Given the description of an element on the screen output the (x, y) to click on. 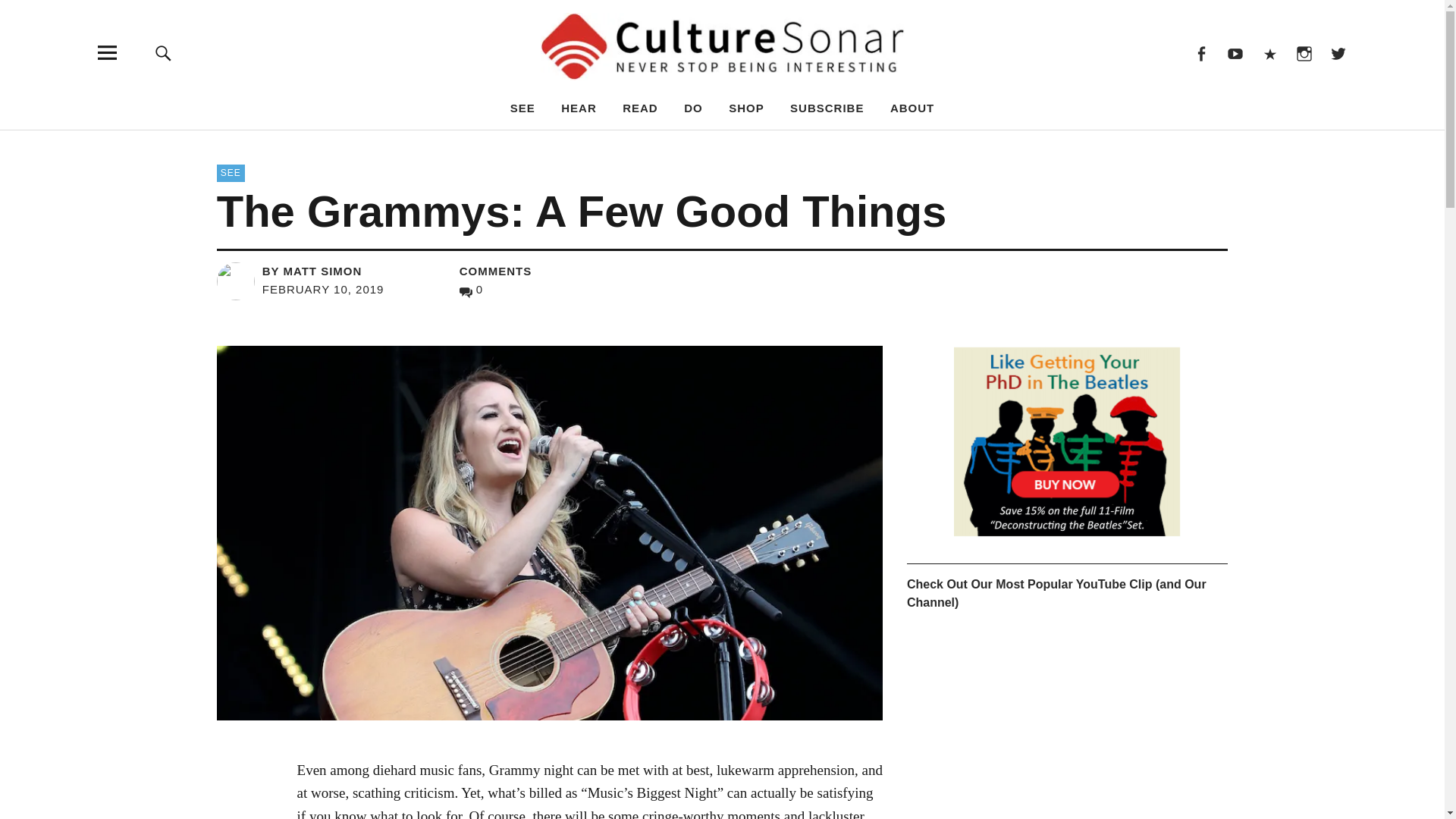
ABOUT (911, 107)
Search (965, 144)
SHOP (746, 107)
SEE (230, 172)
HEAR (578, 107)
READ (640, 107)
YouTube video player (1066, 725)
SEE (523, 107)
DO (693, 107)
SUBSCRIBE (826, 107)
